Given the description of an element on the screen output the (x, y) to click on. 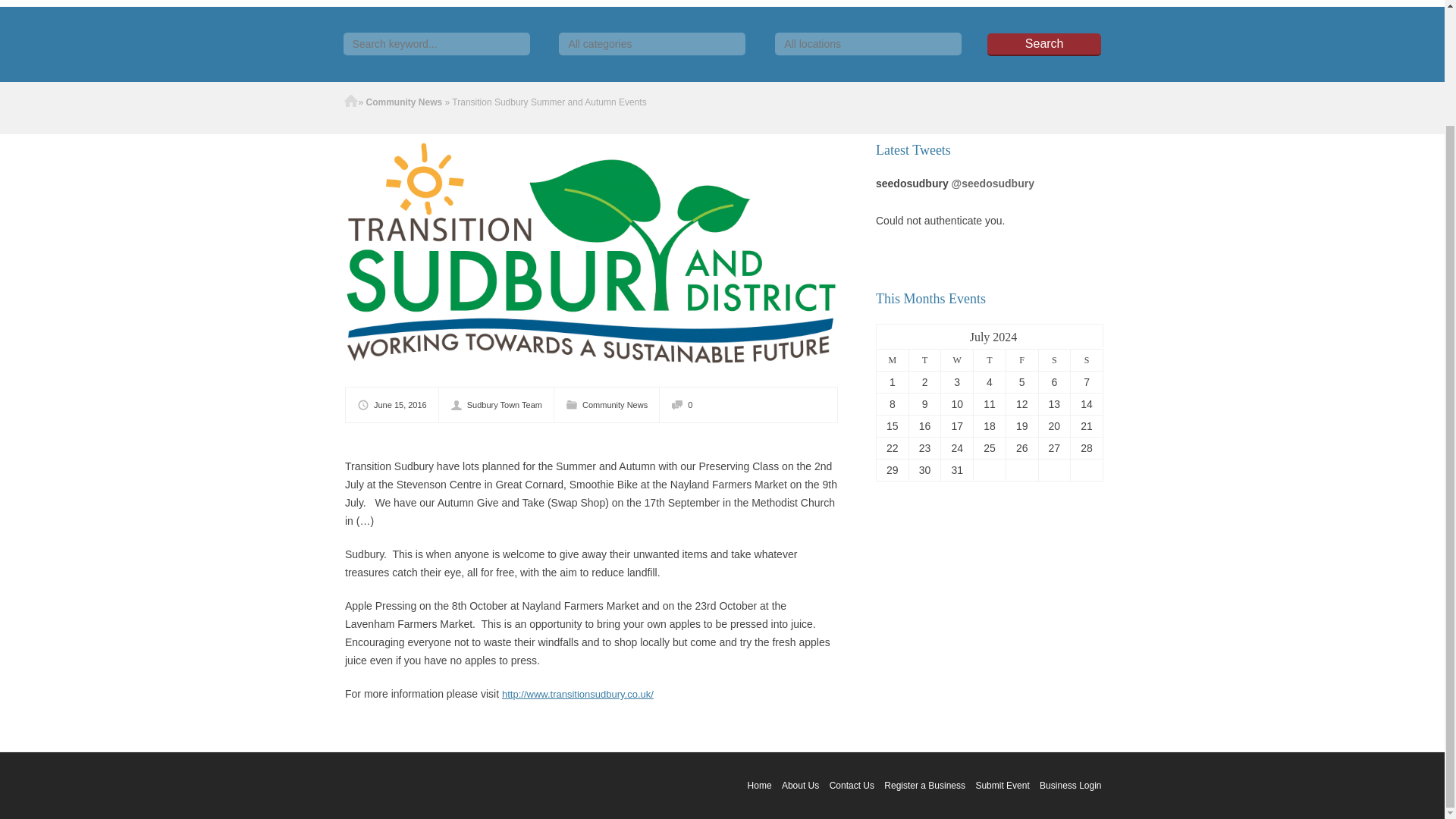
Community News (404, 102)
Saturday (1054, 359)
Monday (892, 359)
Previous month (889, 335)
Business Login (1069, 785)
Search (1043, 44)
Community News (614, 404)
June 15, 2016 (397, 404)
Friday (1022, 359)
Next month (918, 335)
Search (1043, 44)
Contact Us (852, 785)
About Us (799, 785)
Register a Business (924, 785)
Home (759, 785)
